Given the description of an element on the screen output the (x, y) to click on. 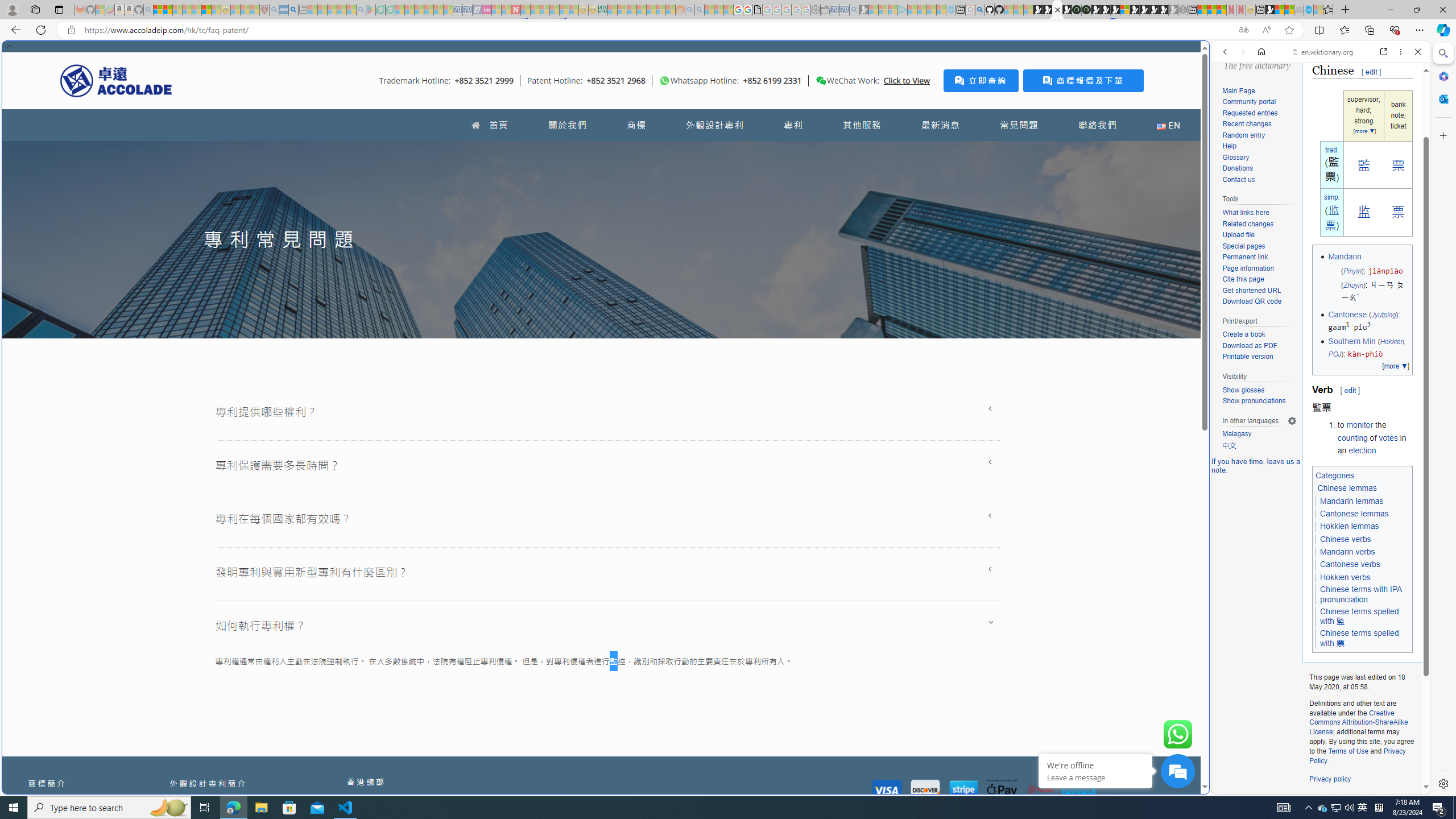
election (1361, 450)
Cantonese lemmas (1354, 513)
Pets - MSN - Sleeping (340, 9)
Sign in to your account (1124, 9)
